Given the description of an element on the screen output the (x, y) to click on. 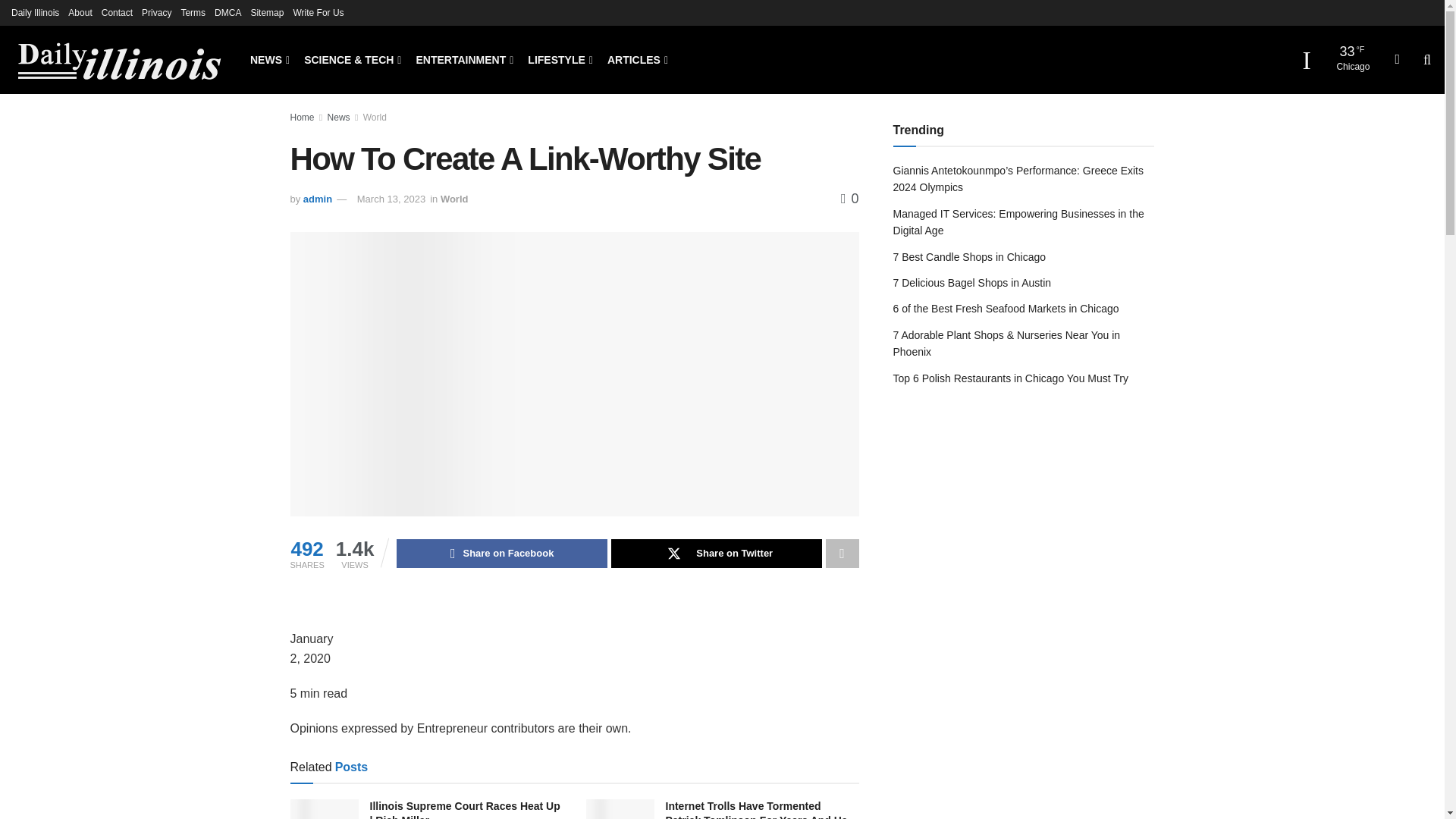
Terms (192, 12)
Write For Us (317, 12)
DMCA (227, 12)
Privacy (156, 12)
NEWS (268, 59)
Contact (116, 12)
About (79, 12)
Sitemap (266, 12)
Daily Illinois (35, 12)
